Given the description of an element on the screen output the (x, y) to click on. 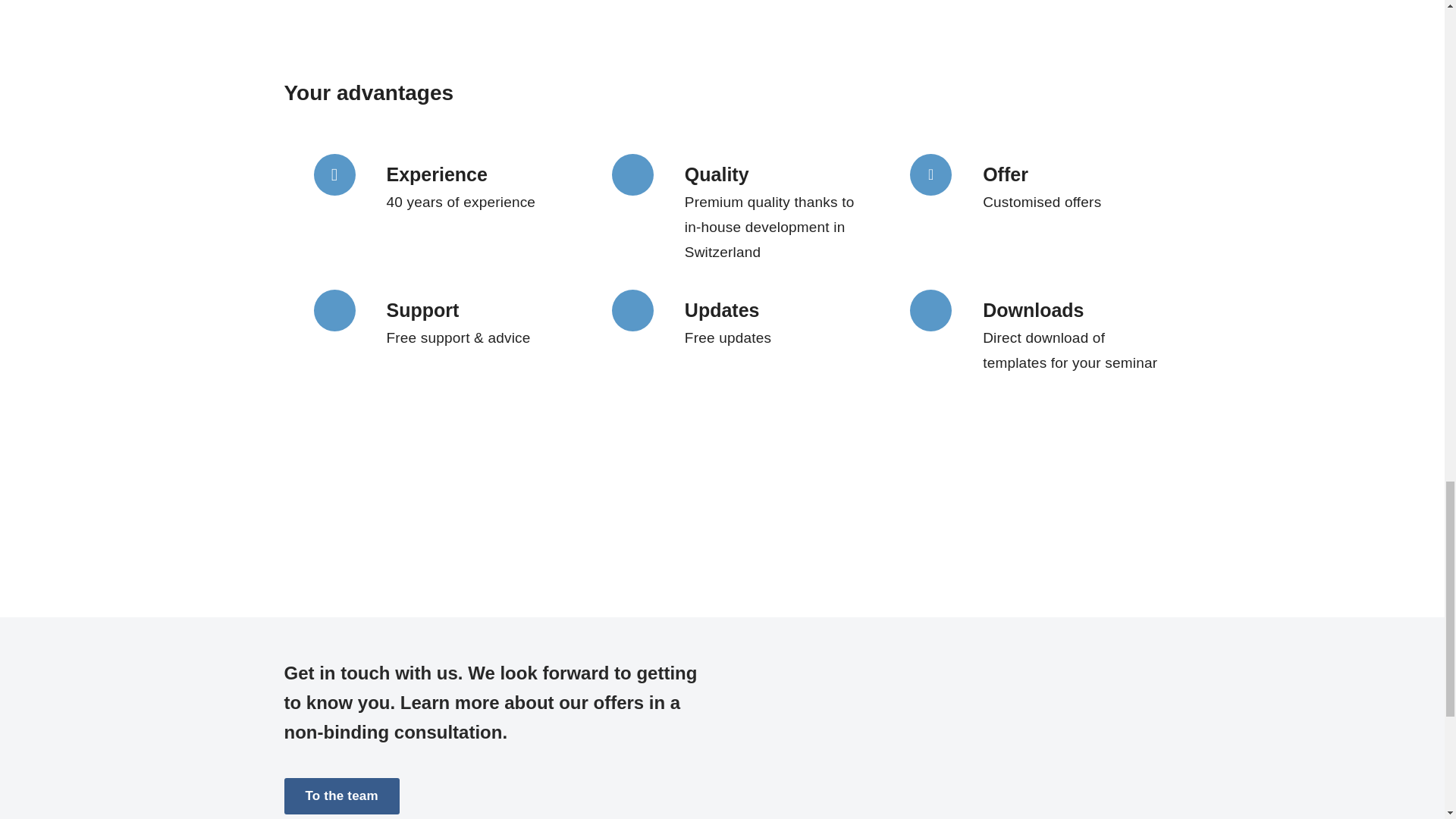
To the team (340, 796)
